Given the description of an element on the screen output the (x, y) to click on. 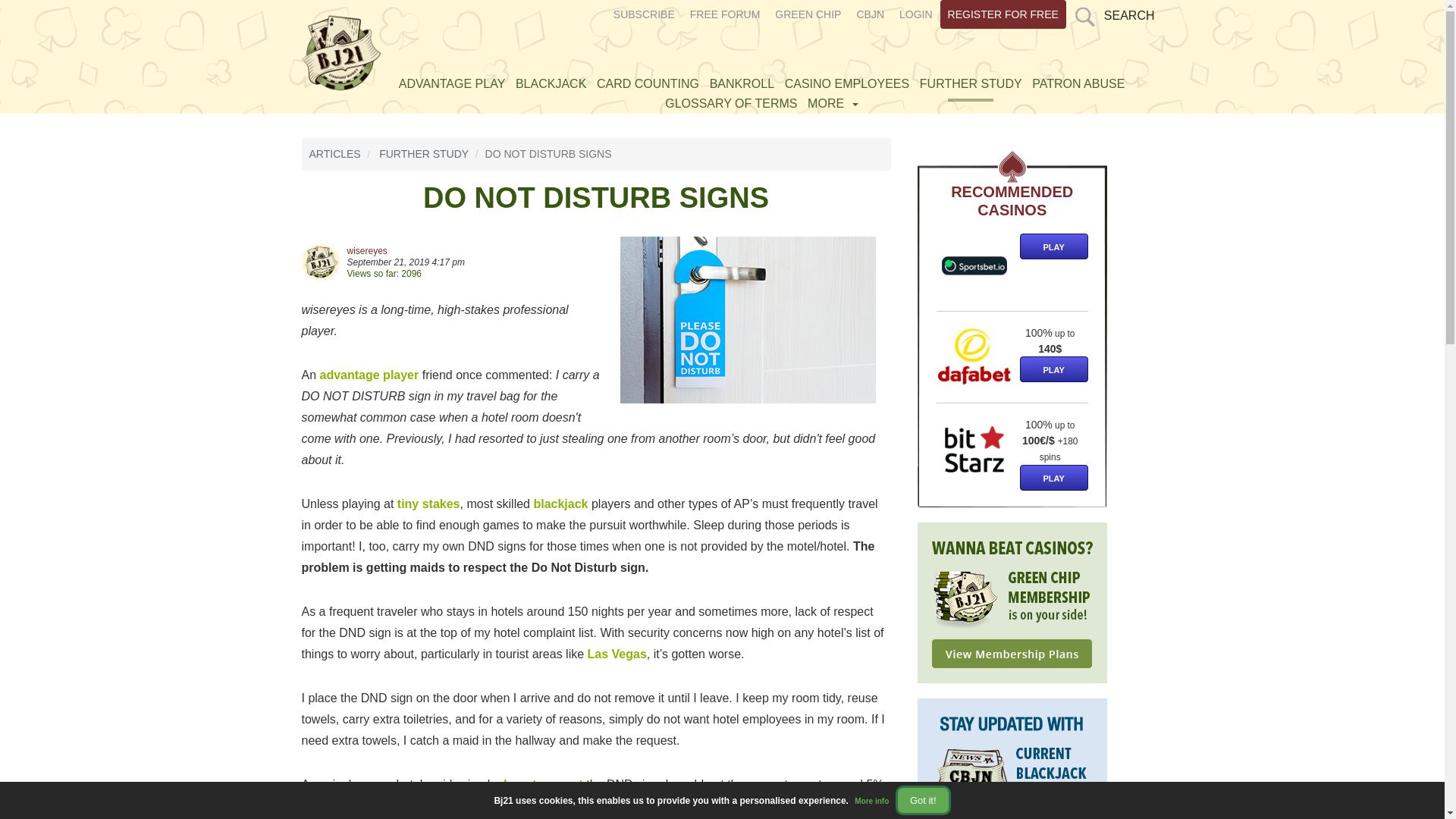
REGISTER FOR FREE (1002, 14)
GREEN CHIP (807, 14)
ADVANTAGE PLAY (451, 83)
LOGIN (915, 14)
CARD COUNTING (647, 83)
FREE FORUM (725, 14)
BLACKJACK (550, 83)
CBJN (869, 14)
BANKROLL (741, 83)
CASINO EMPLOYEES (847, 83)
SUBSCRIBE (643, 14)
